Given the description of an element on the screen output the (x, y) to click on. 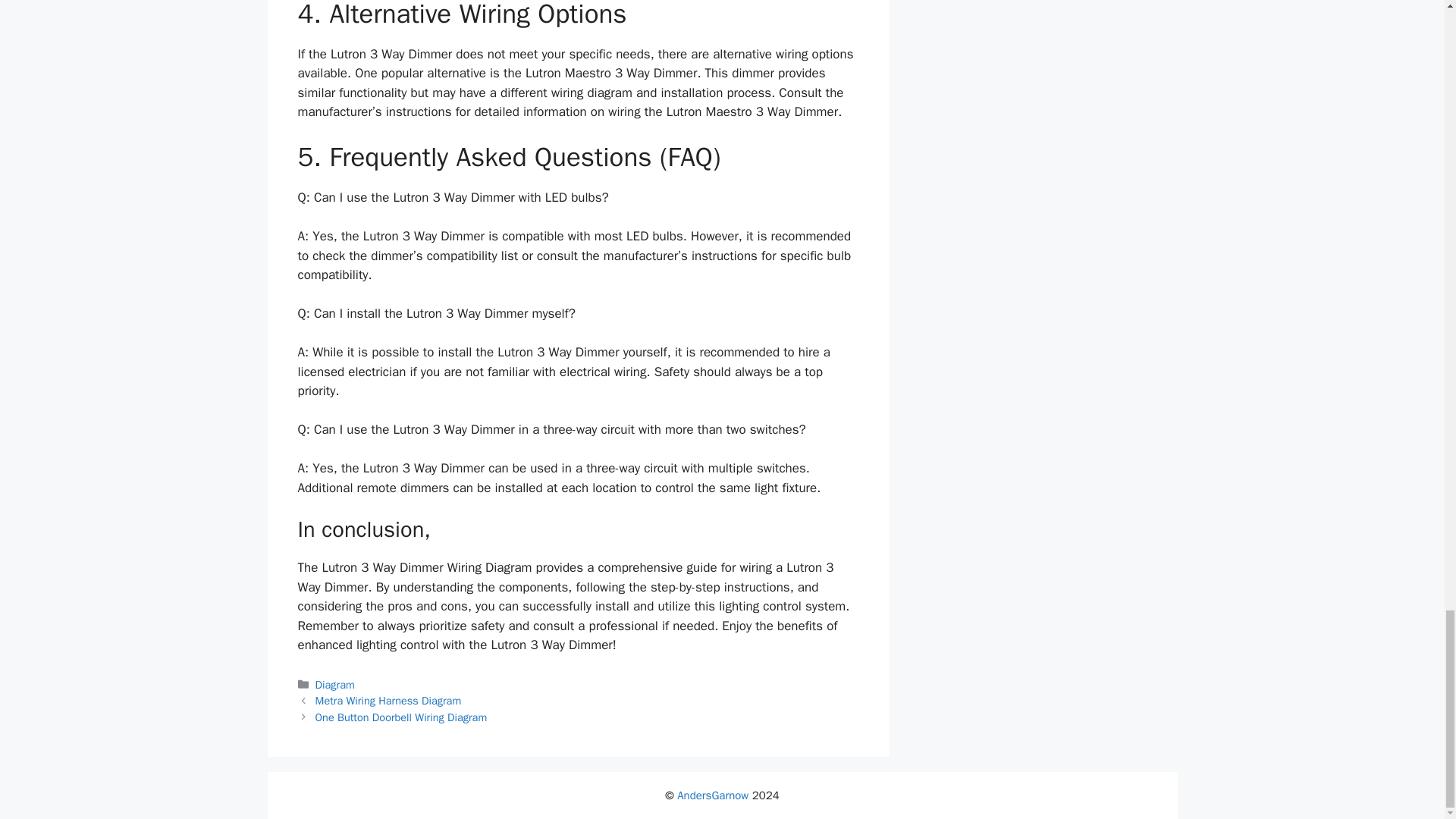
One Button Doorbell Wiring Diagram (401, 716)
Diagram (335, 684)
Metra Wiring Harness Diagram (388, 700)
